Given the description of an element on the screen output the (x, y) to click on. 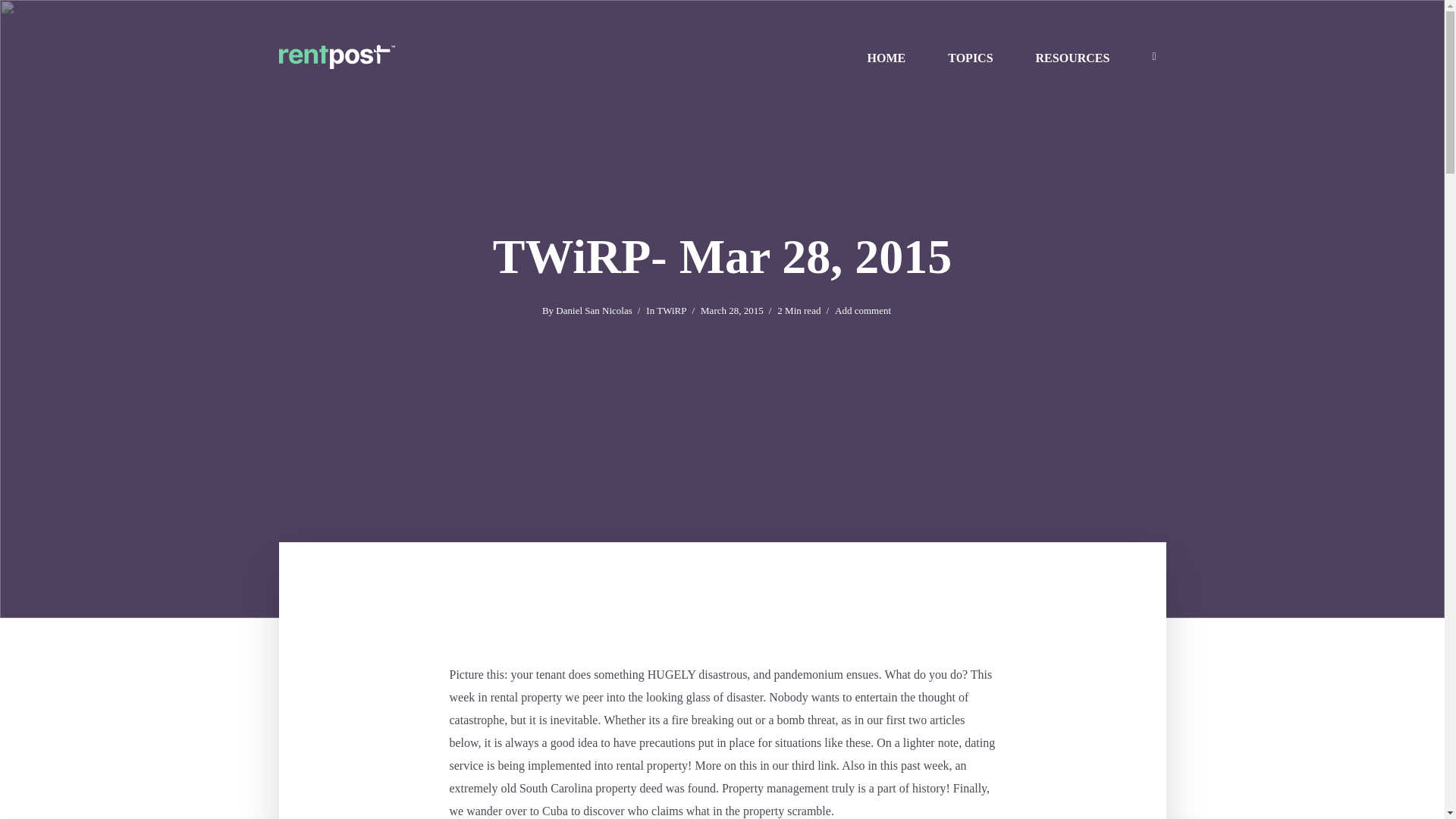
RESOURCES (1073, 56)
TWiRP (670, 311)
Daniel San Nicolas (593, 311)
TOPICS (970, 56)
Add comment (862, 311)
HOME (887, 56)
